Given the description of an element on the screen output the (x, y) to click on. 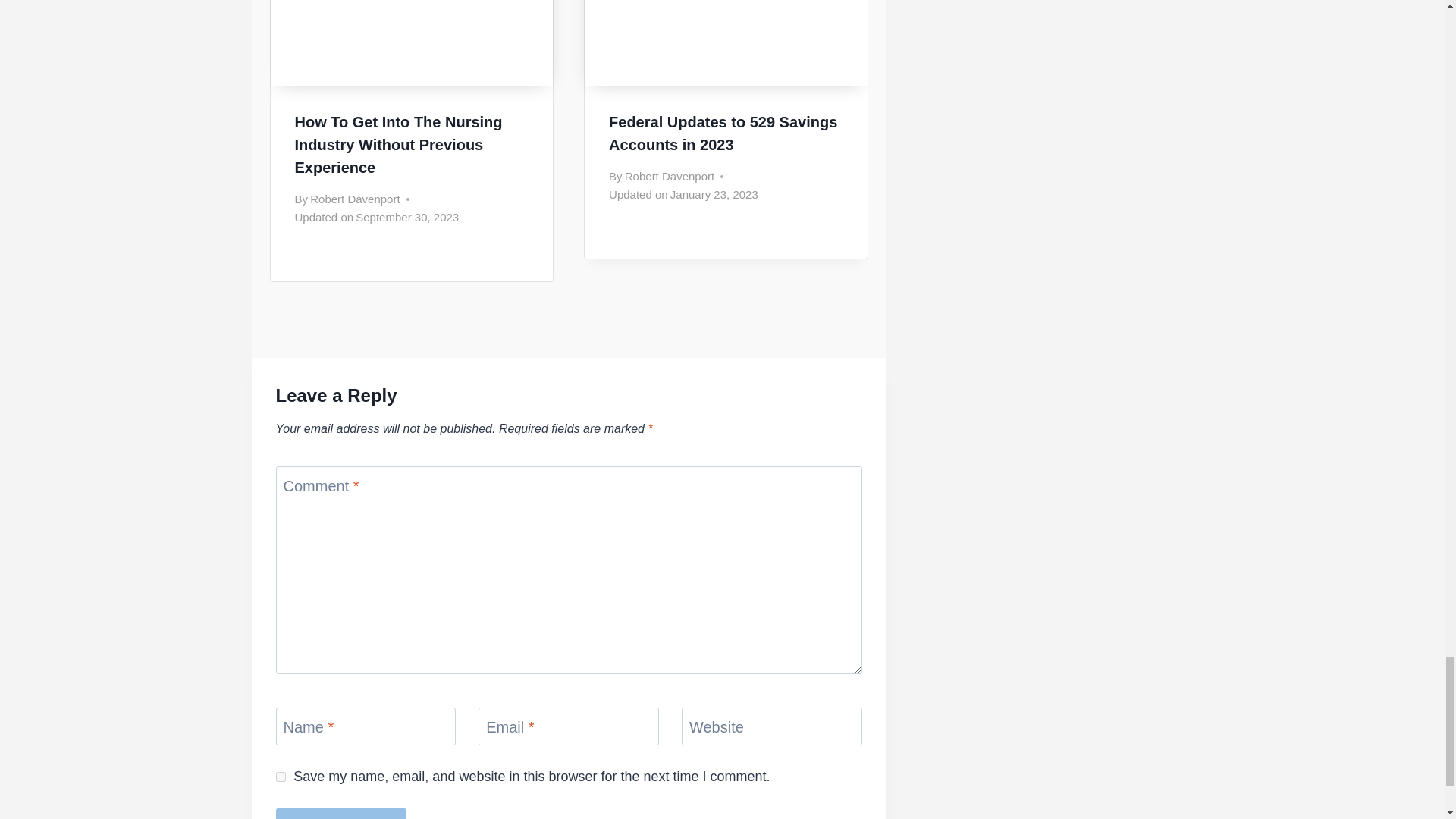
Post Comment (341, 813)
Robert Davenport (354, 198)
Robert Davenport (669, 175)
Federal Updates to 529 Savings Accounts in 2023 (722, 133)
yes (280, 777)
